Given the description of an element on the screen output the (x, y) to click on. 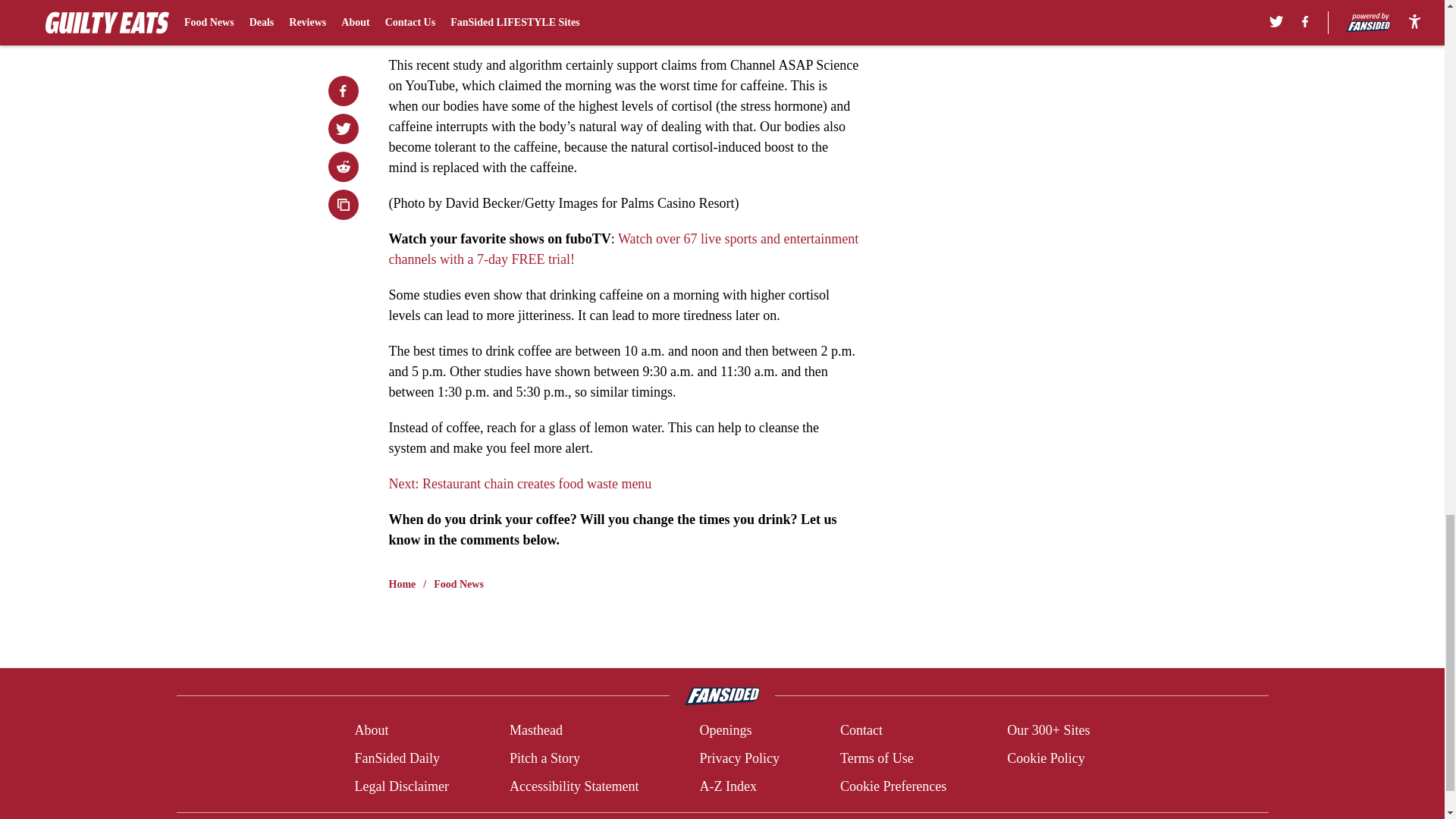
FanSided Daily (396, 758)
Terms of Use (877, 758)
Food News (458, 584)
according to Global News (737, 29)
Contact (861, 730)
Openings (724, 730)
Legal Disclaimer (400, 786)
Accessibility Statement (574, 786)
Cookie Policy (1045, 758)
Home (401, 584)
Pitch a Story (544, 758)
Privacy Policy (738, 758)
Masthead (535, 730)
Next: Restaurant chain creates food waste menu (519, 483)
